Given the description of an element on the screen output the (x, y) to click on. 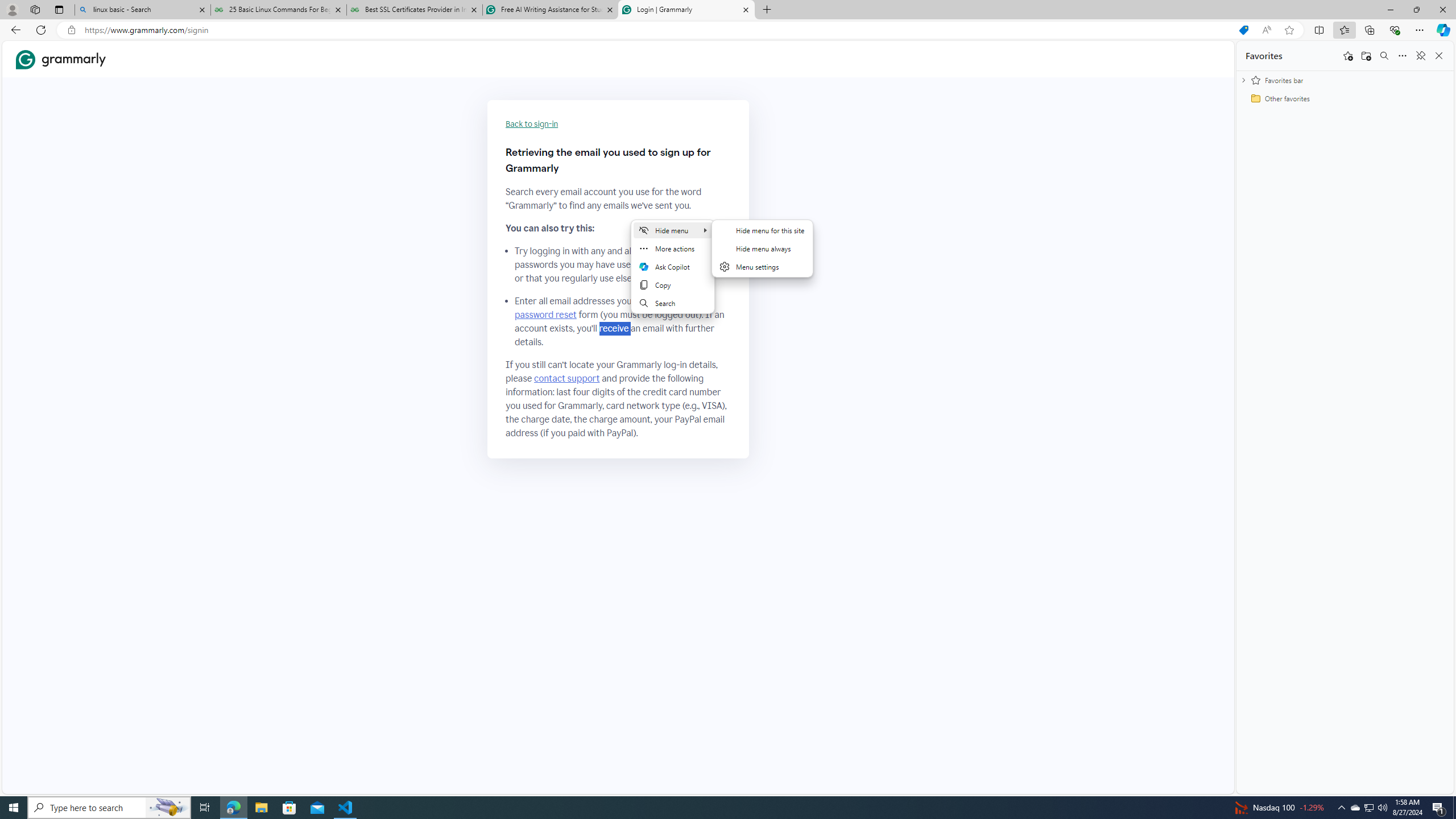
Hide menu for this site (761, 230)
Hide menu (672, 230)
Shopping in Microsoft Edge (1243, 29)
Free AI Writing Assistance for Students | Grammarly (550, 9)
Hide menu (762, 255)
Mini menu on text selection (672, 266)
Add this page to favorites (1347, 55)
Menu settings (761, 266)
